Given the description of an element on the screen output the (x, y) to click on. 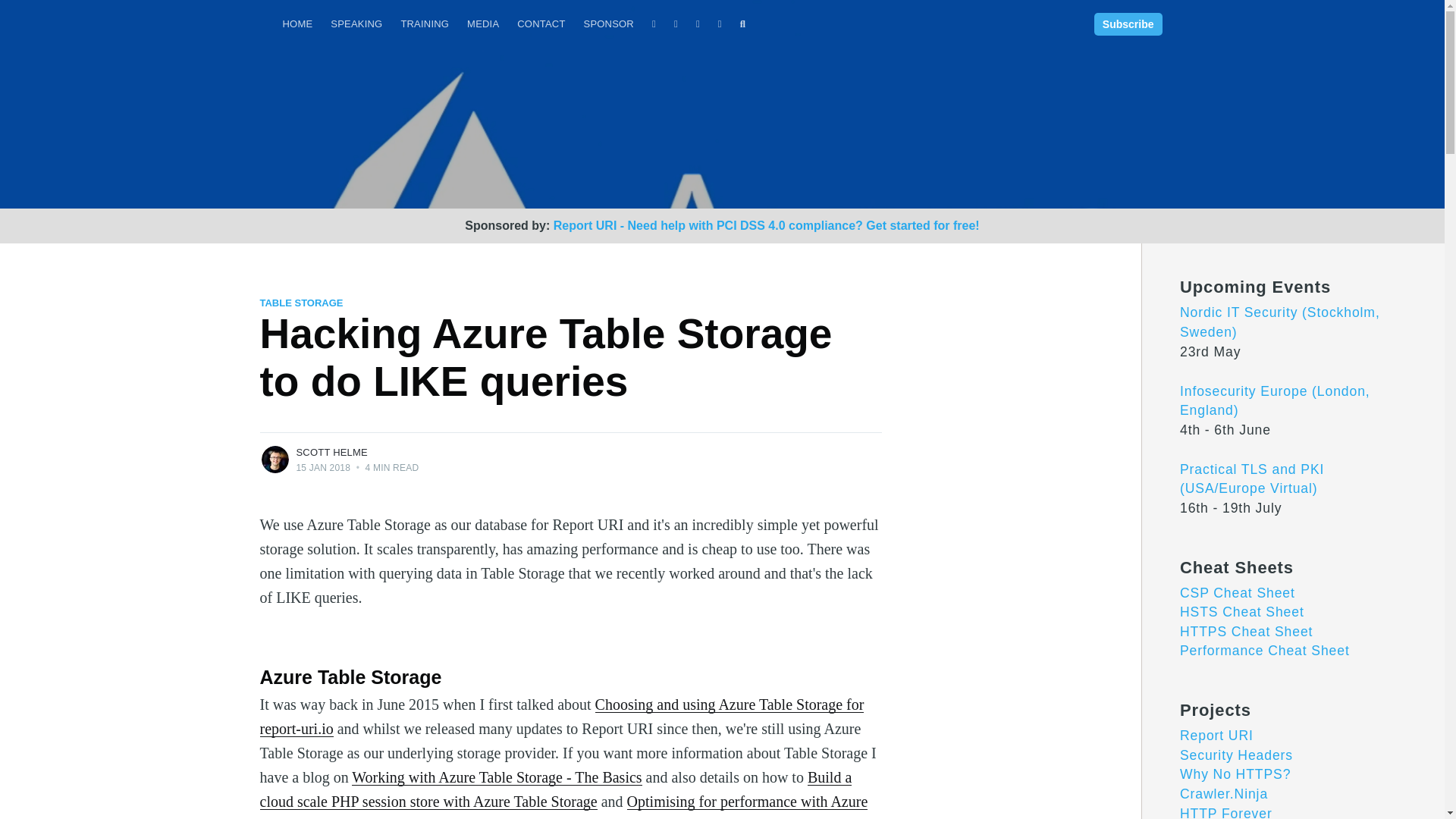
Performance Cheat Sheet (1264, 650)
Why No HTTPS? (1234, 774)
TABLE STORAGE (300, 303)
Choosing and using Azure Table Storage for report-uri.io (561, 716)
TRAINING (424, 24)
Security Headers (1235, 754)
Working with Azure Table Storage - The Basics (497, 777)
SCOTT HELME (330, 451)
SPONSOR (609, 24)
CSP Cheat Sheet (1237, 592)
Subscribe (1127, 23)
SPEAKING (356, 24)
HTTPS Cheat Sheet (1246, 631)
